Given the description of an element on the screen output the (x, y) to click on. 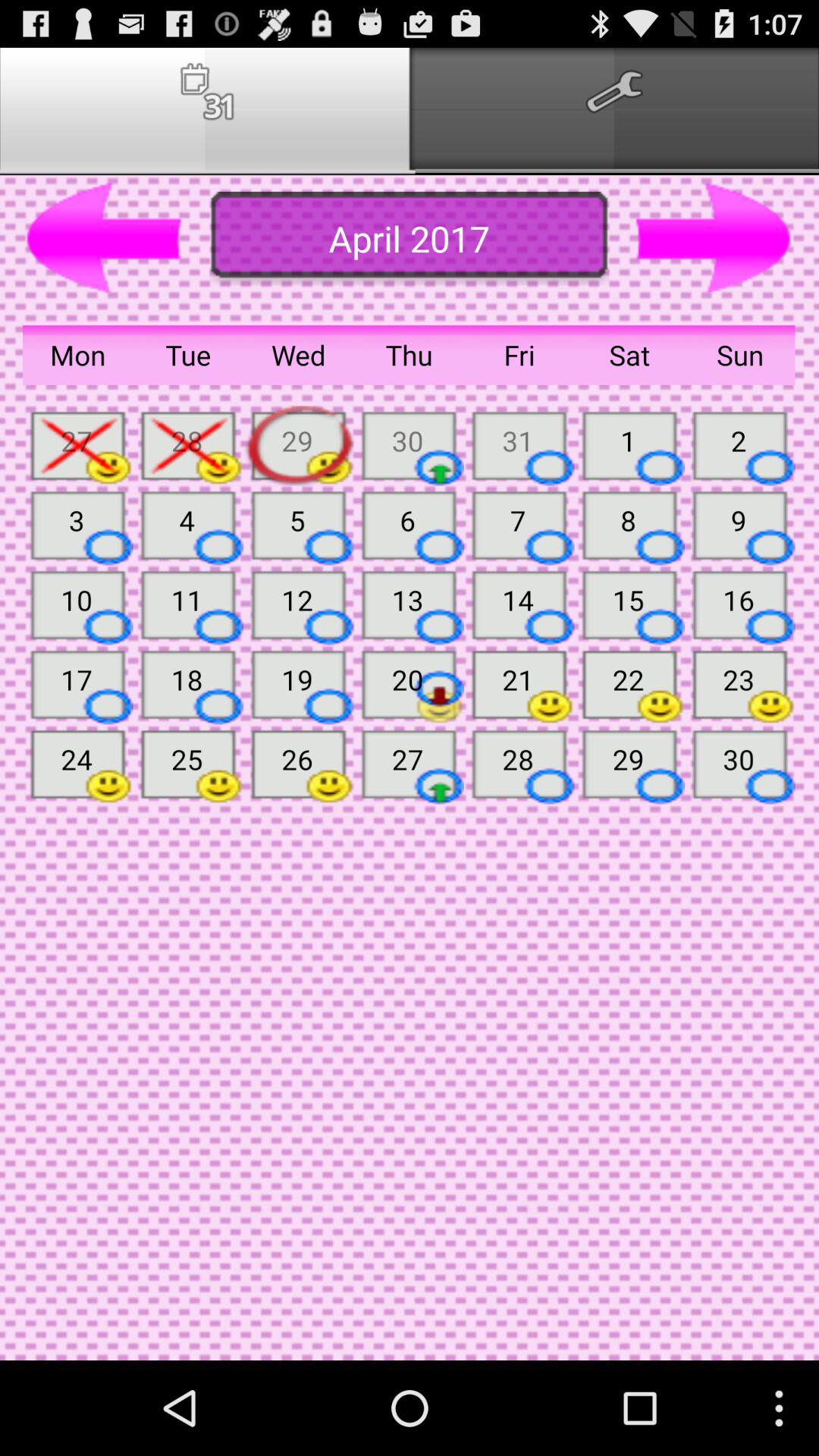
go to next month (714, 238)
